Given the description of an element on the screen output the (x, y) to click on. 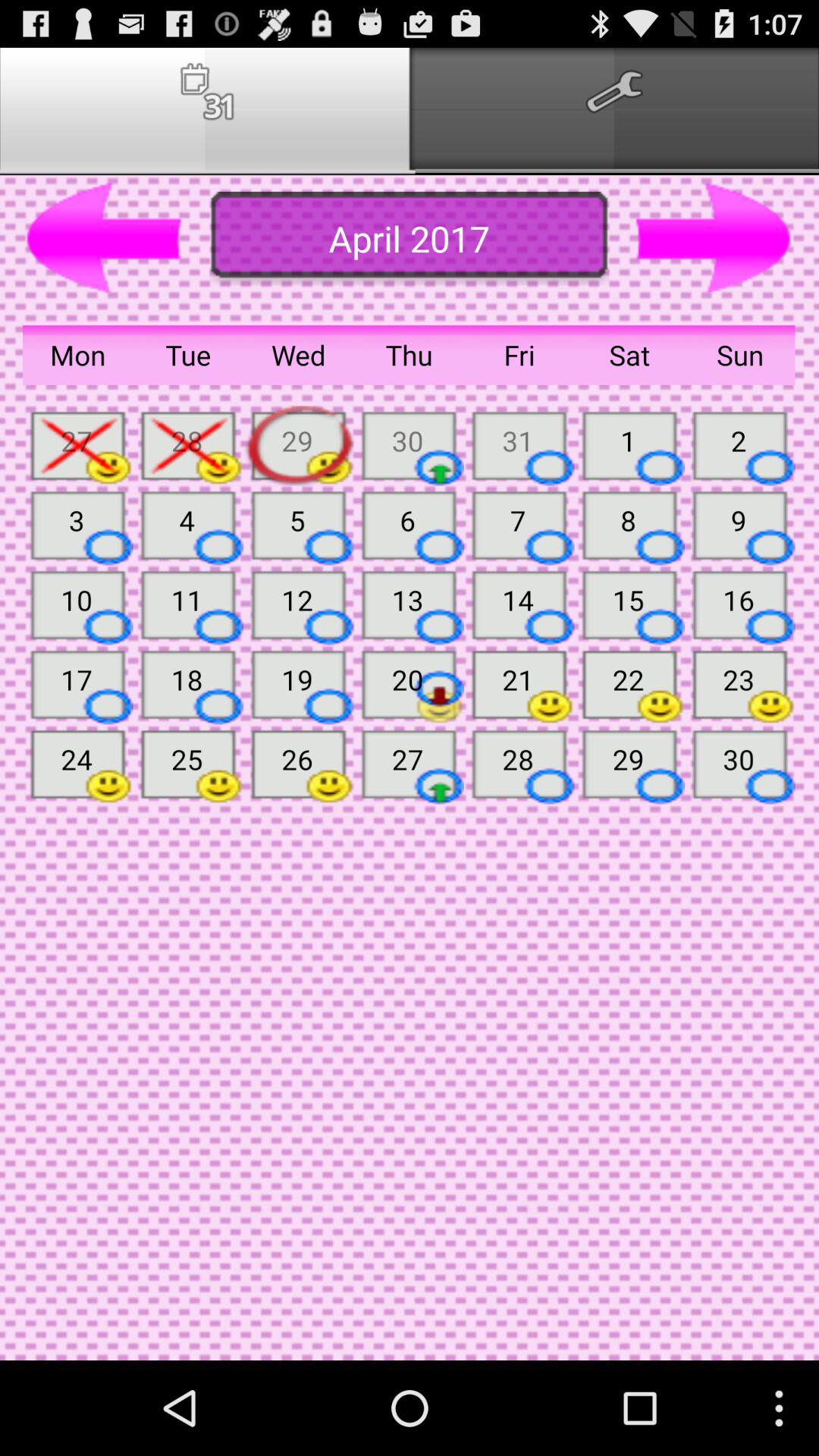
go to next month (714, 238)
